Given the description of an element on the screen output the (x, y) to click on. 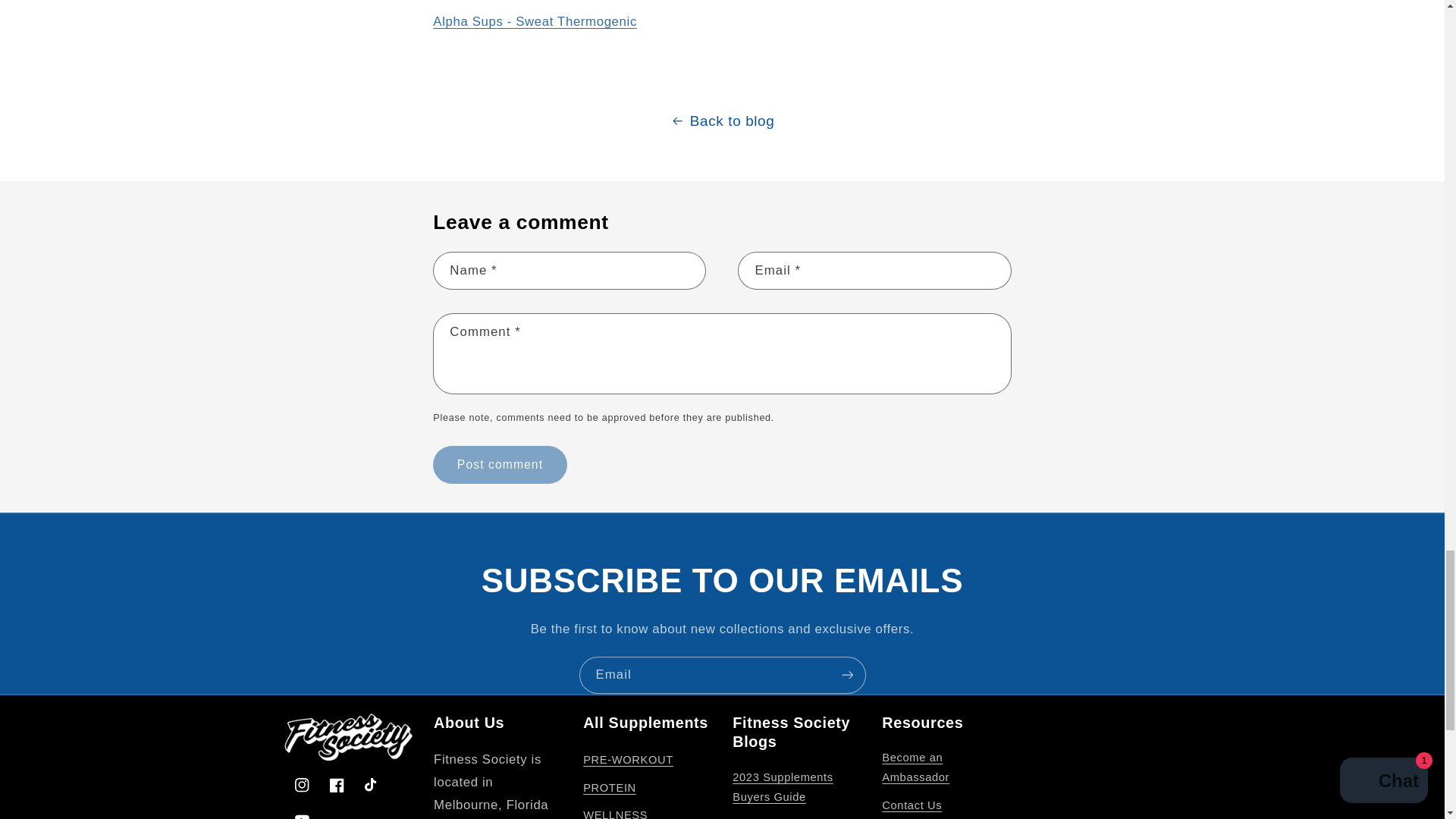
Post comment (499, 464)
